Given the description of an element on the screen output the (x, y) to click on. 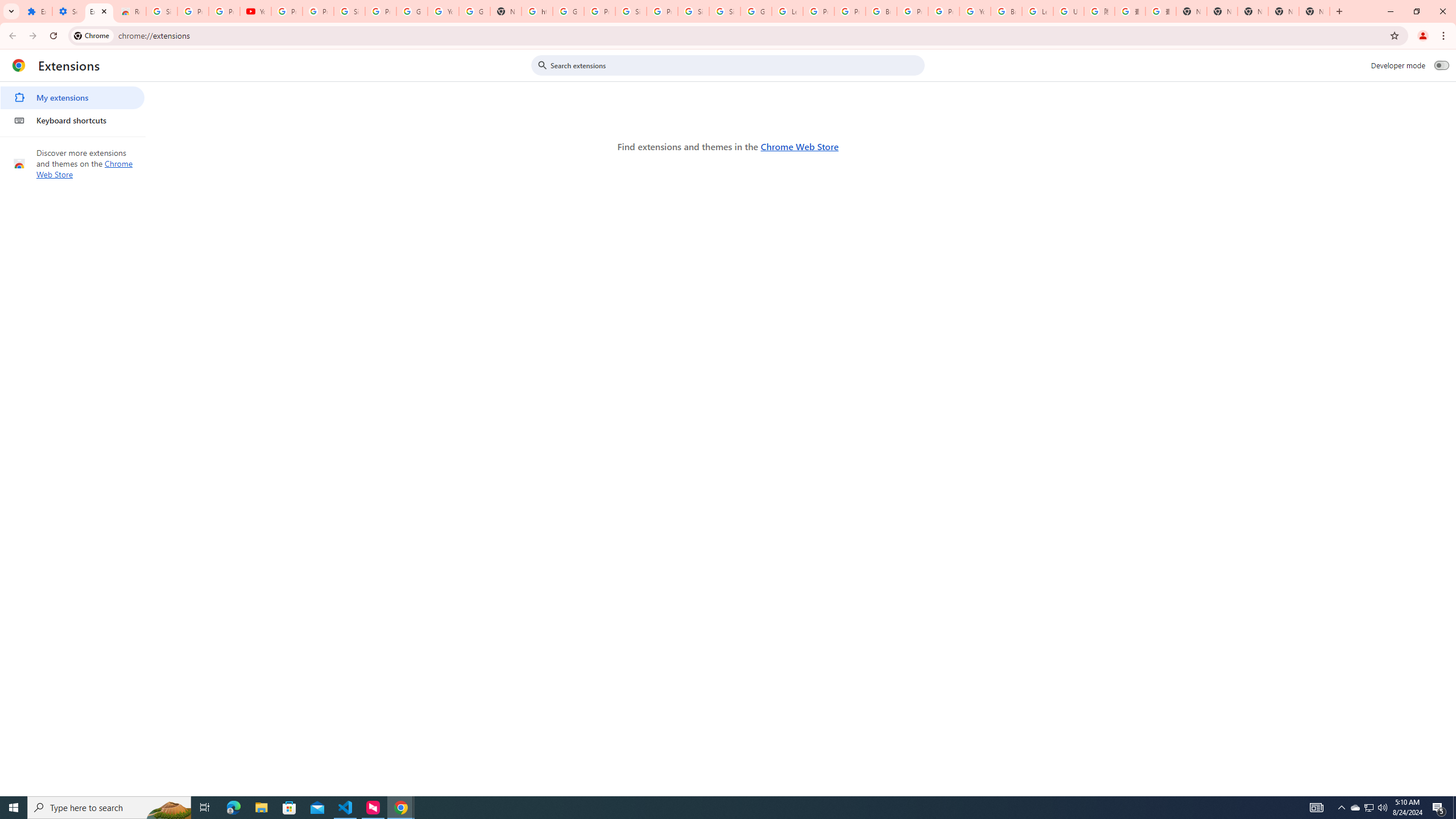
My extensions (72, 97)
YouTube (443, 11)
Sign in - Google Accounts (349, 11)
Sign in - Google Accounts (693, 11)
Chrome Web Store (799, 146)
Extensions (36, 11)
Google Account (411, 11)
